Given the description of an element on the screen output the (x, y) to click on. 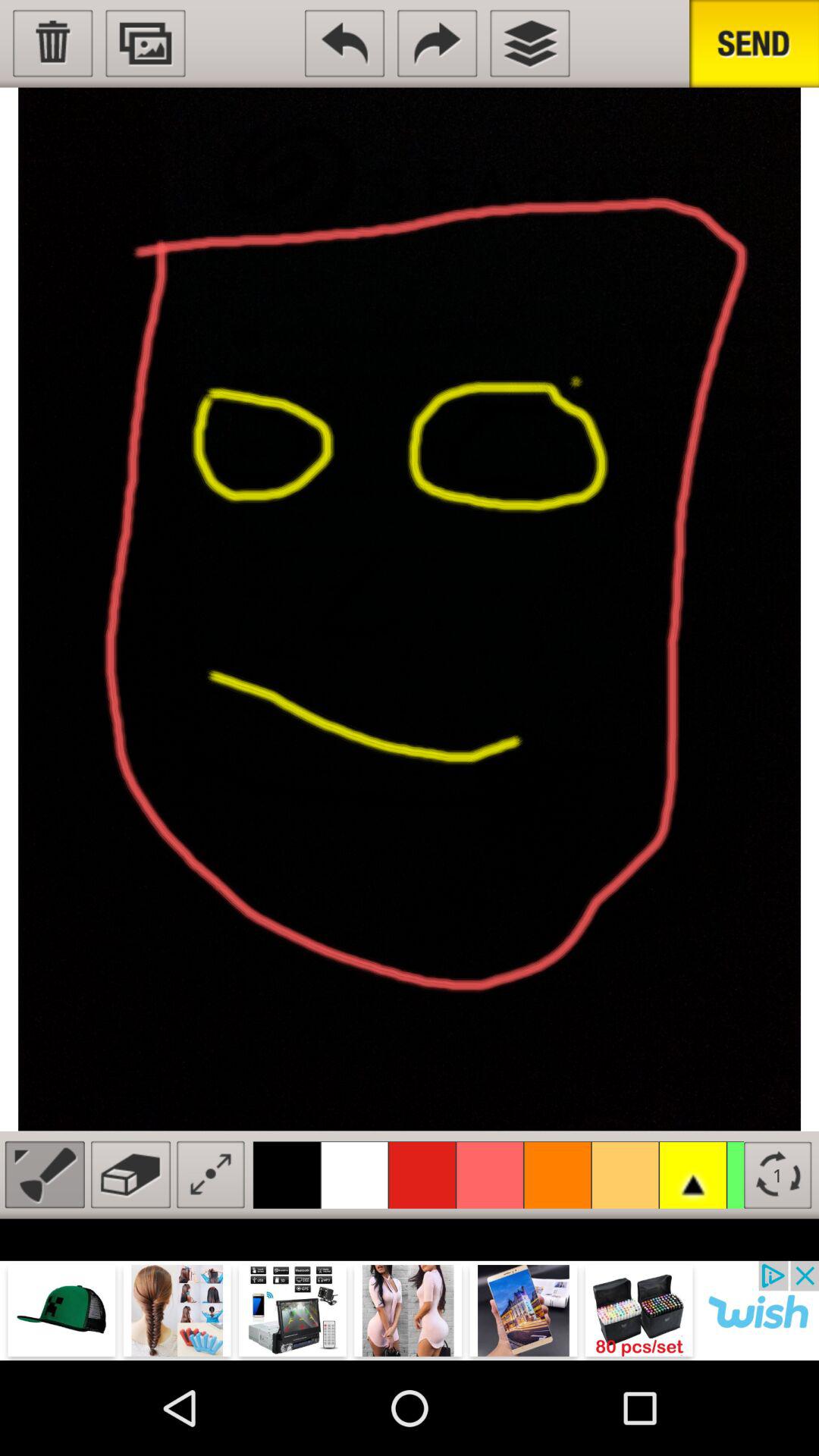
delete image (52, 43)
